Given the description of an element on the screen output the (x, y) to click on. 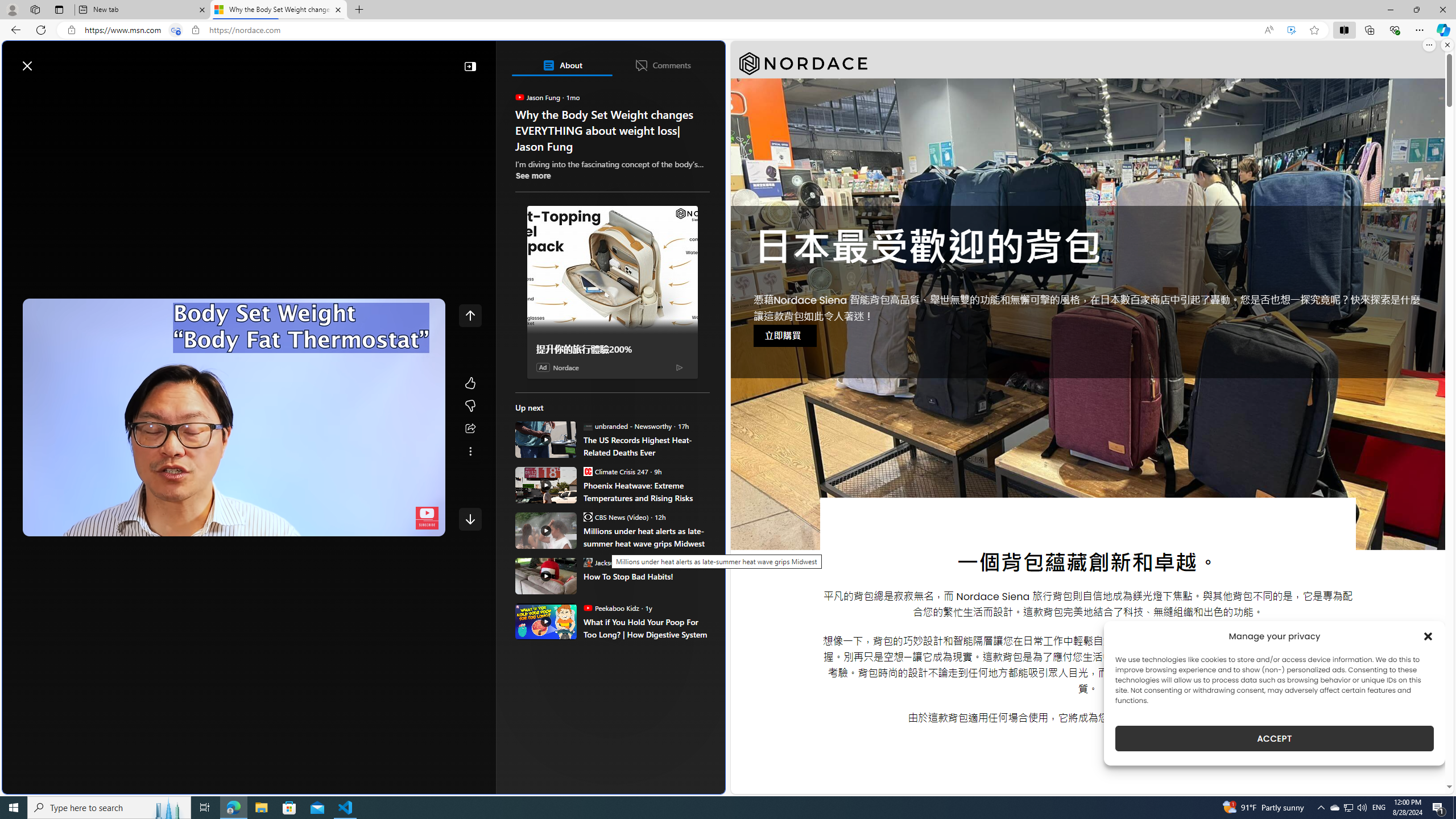
Microsoft rewards (654, 60)
Full screen (f) (427, 525)
Channel watermark (427, 517)
The US Records Highest Heat-Related Deaths Ever (646, 445)
Feedback (681, 784)
Share this story (469, 428)
Nordace.com (577, 249)
Subtitles/closed captions unavailable (343, 525)
Comments (662, 64)
ABC News (554, 415)
Minimize (1390, 9)
About (561, 64)
Discover (52, 92)
